Given the description of an element on the screen output the (x, y) to click on. 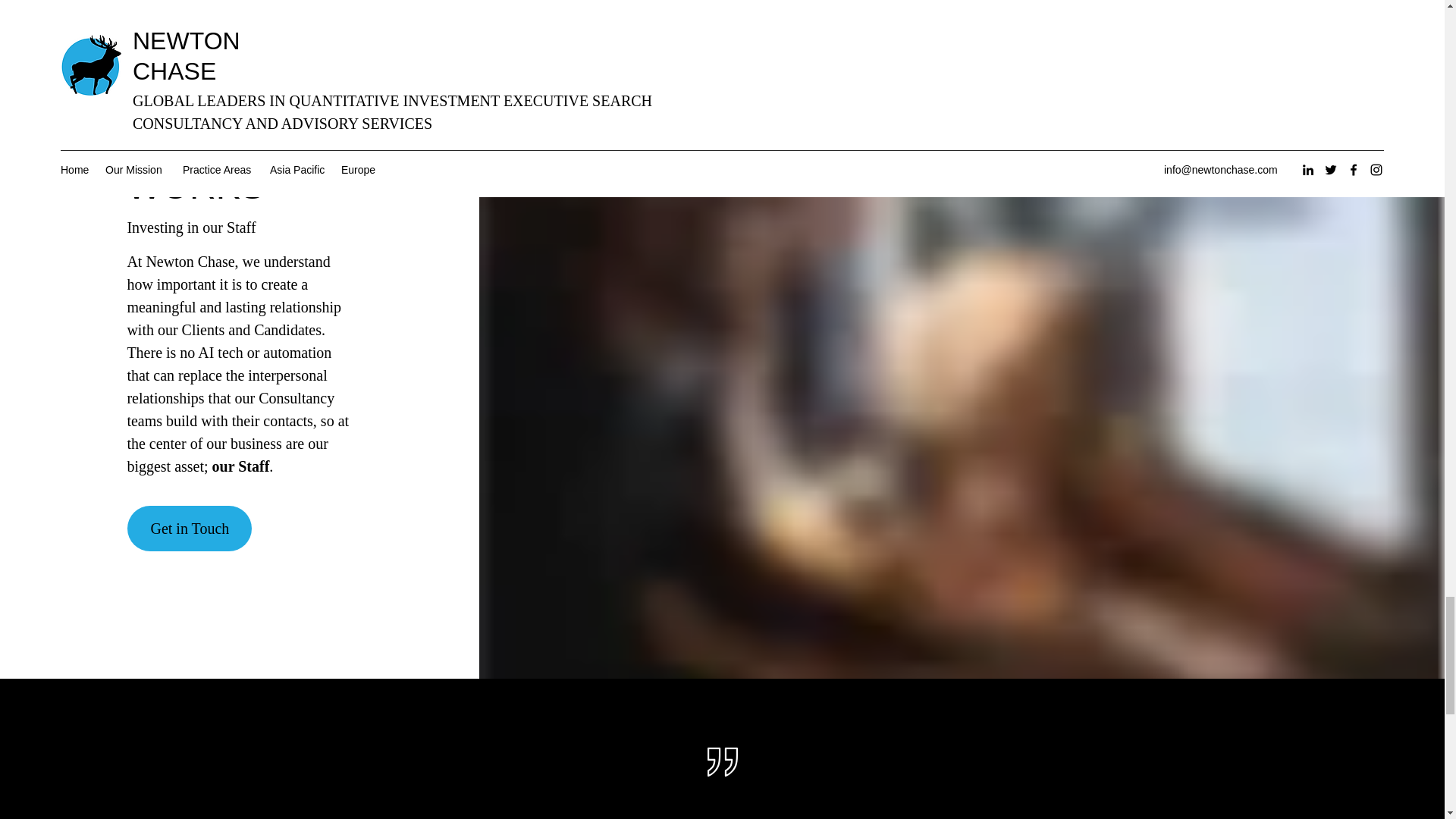
Get in Touch (189, 528)
